Given the description of an element on the screen output the (x, y) to click on. 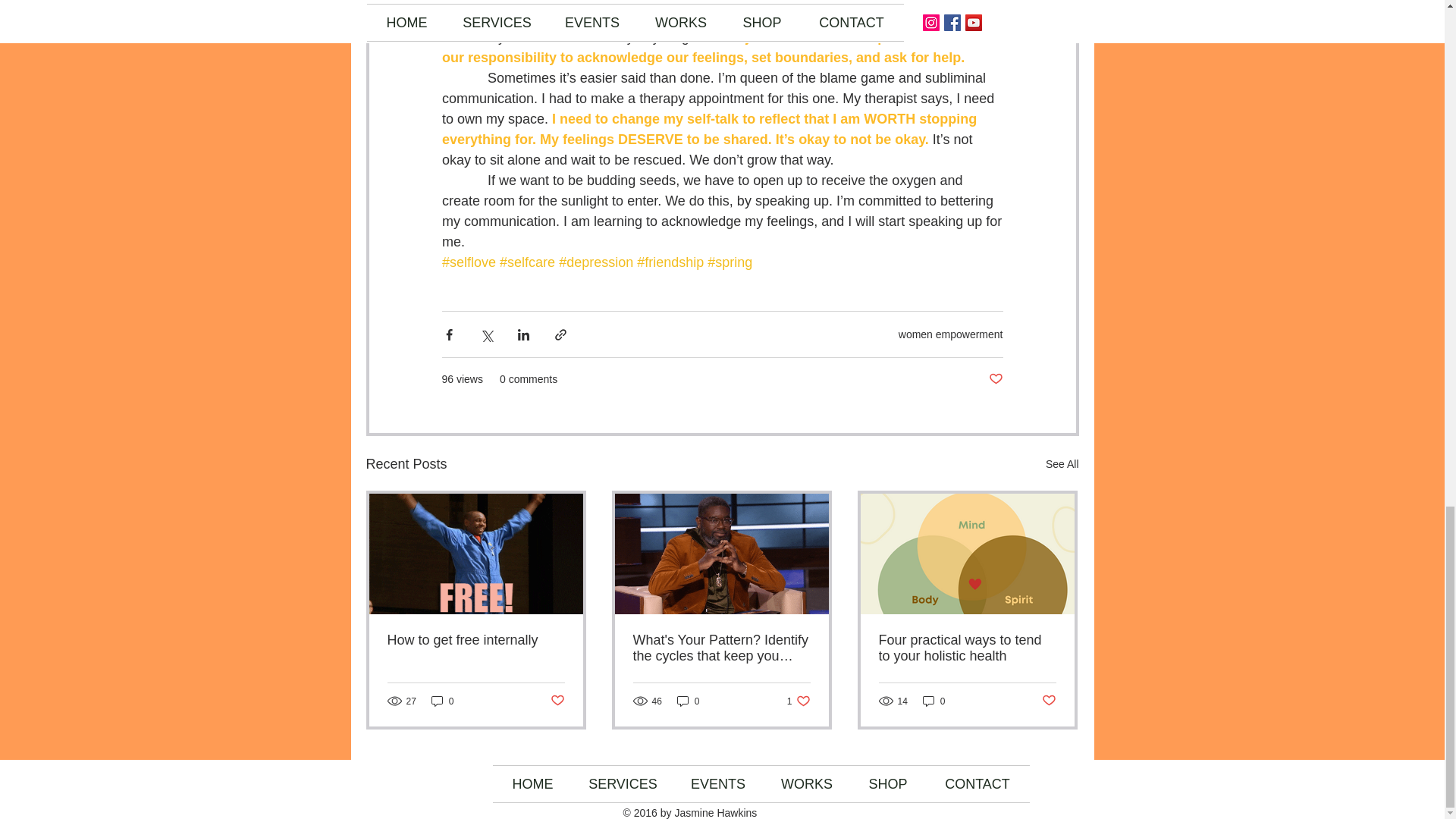
Post not marked as liked (995, 379)
See All (1061, 464)
0 (442, 700)
women empowerment (950, 334)
Post not marked as liked (798, 700)
Four practical ways to tend to your holistic health (557, 700)
How to get free internally (966, 648)
0 (475, 640)
